Given the description of an element on the screen output the (x, y) to click on. 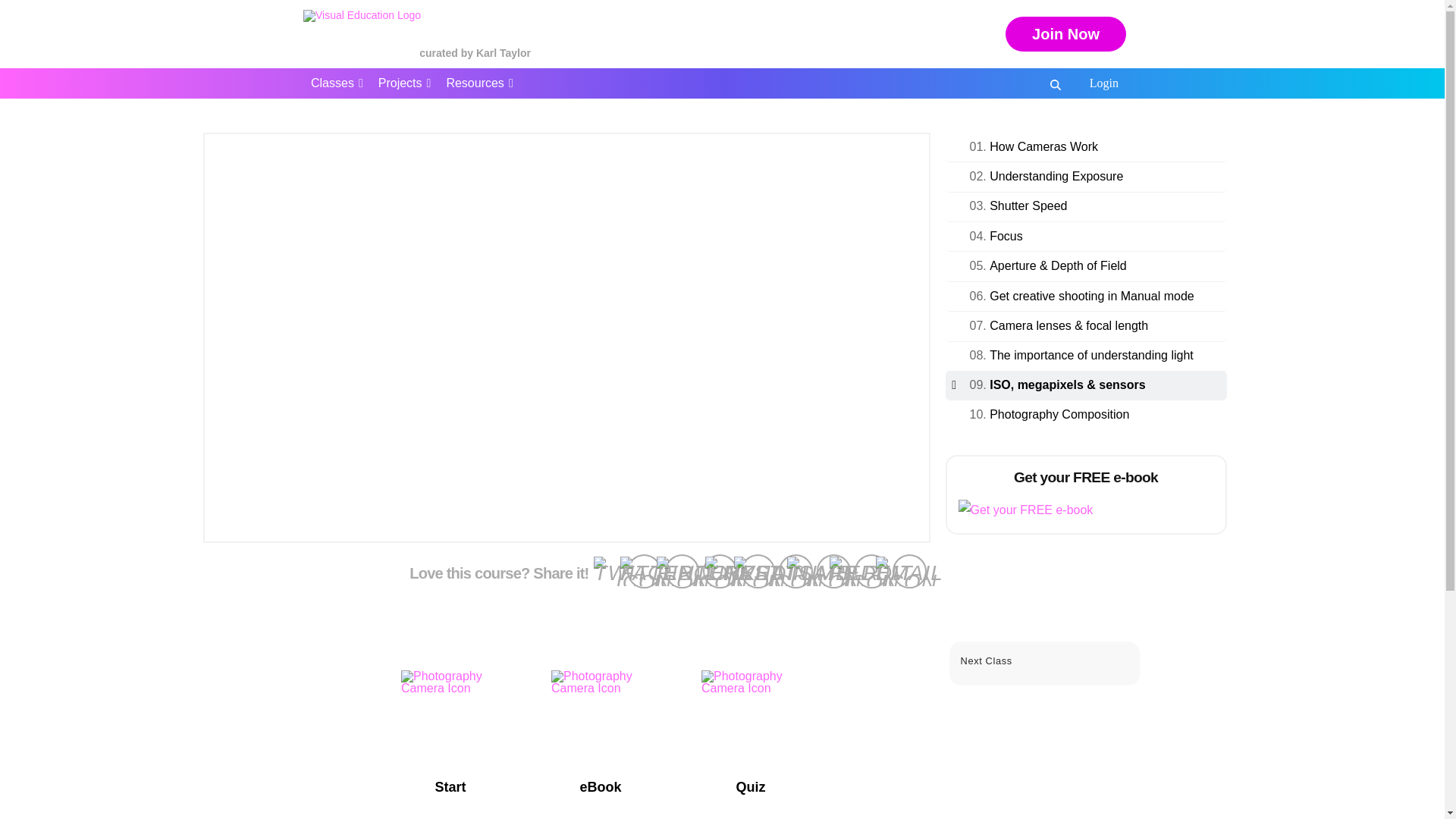
Shutter Speed (1028, 205)
Classes (336, 82)
Get creative shooting in Manual mode (1091, 295)
Join Now (1065, 33)
Focus (1006, 236)
Photography Composition (1059, 413)
Understanding Exposure (1056, 175)
How Cameras Work (1043, 146)
The importance of understanding light (1091, 354)
